Given the description of an element on the screen output the (x, y) to click on. 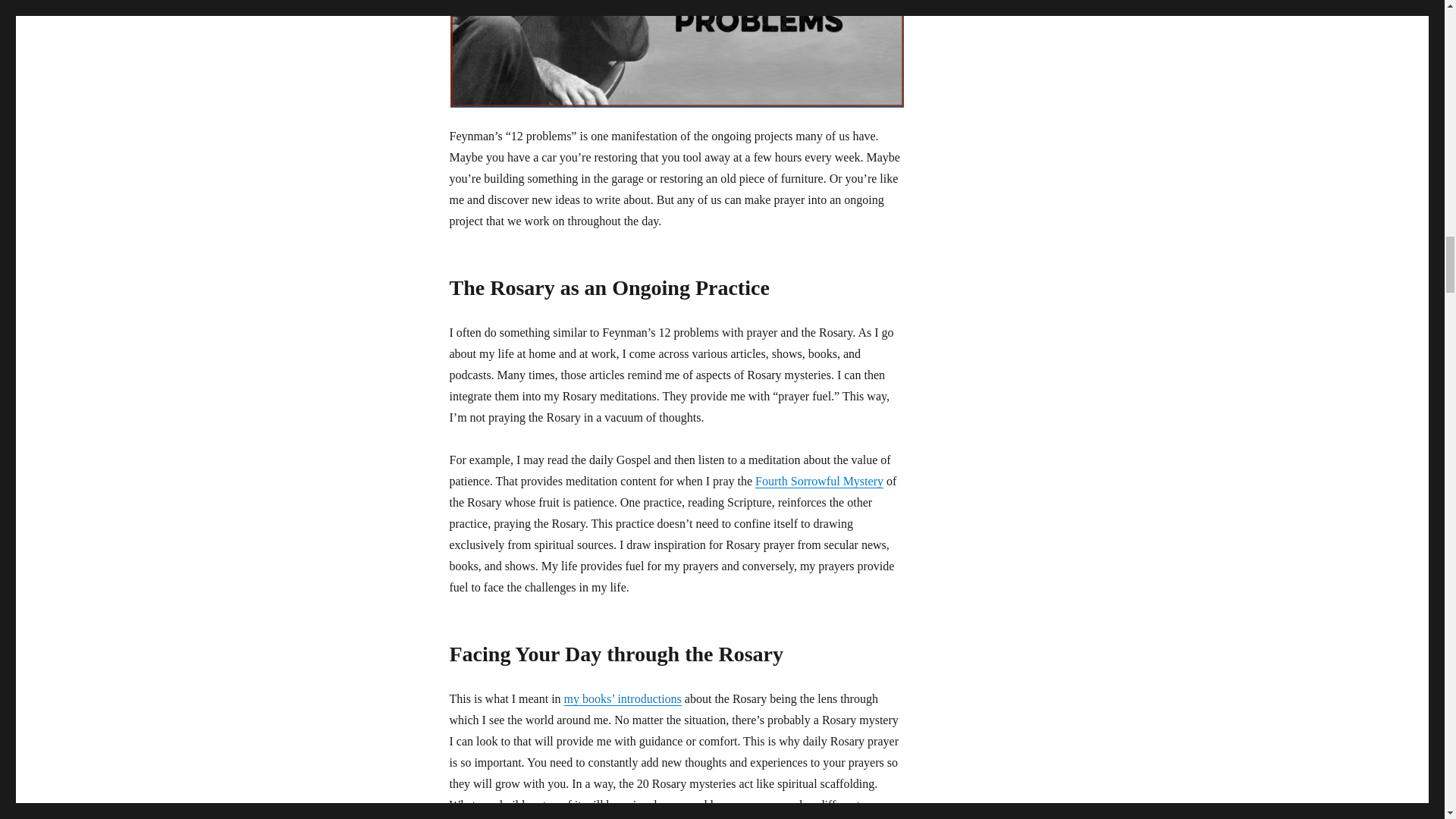
Fourth Sorrowful Mystery (819, 481)
The Fourth Sorrowful Mystery (819, 481)
